Given the description of an element on the screen output the (x, y) to click on. 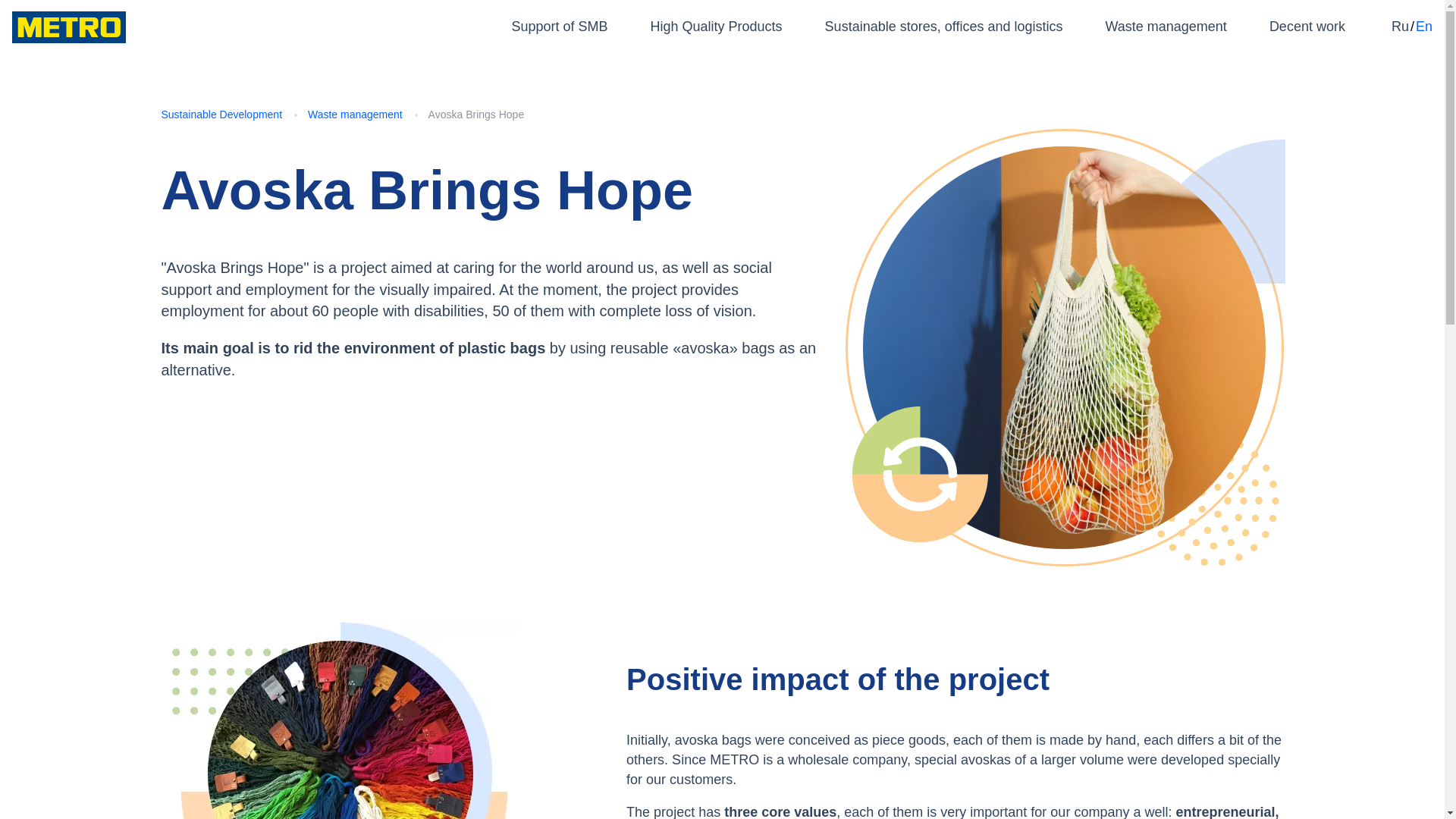
Support of SMB (559, 26)
Ru (1400, 26)
Sustainable stores, offices and logistics (943, 26)
Waste management (1165, 26)
Decent work (1307, 26)
High Quality Products (716, 26)
